Given the description of an element on the screen output the (x, y) to click on. 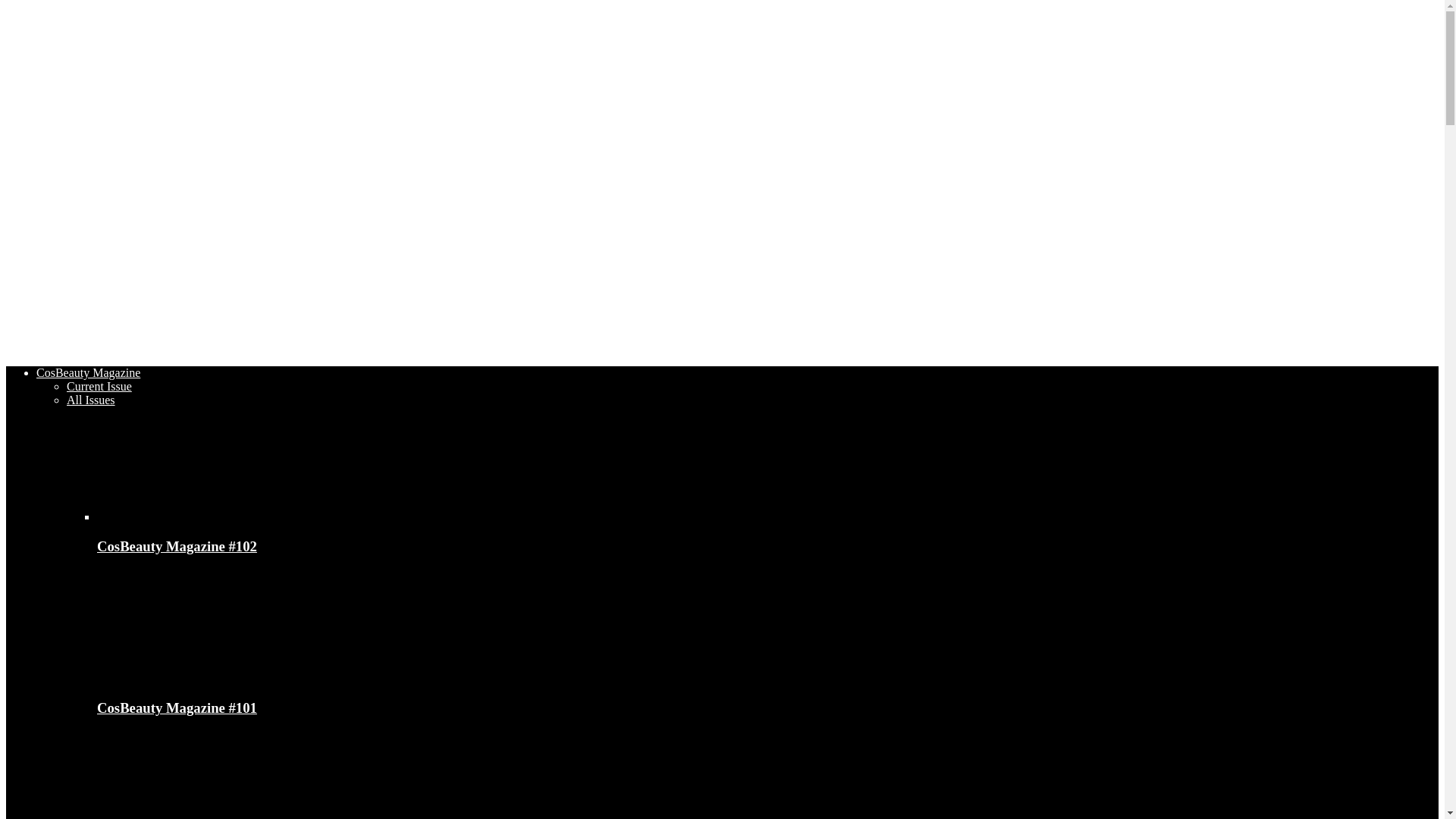
CosBeauty Magazine #101 Element type: hover (179, 625)
CosBeauty Magazine #102 Element type: text (177, 546)
All Issues Element type: text (90, 399)
CosBeauty Magazine #102 Element type: hover (179, 516)
CosBeauty Magazine Element type: text (88, 372)
Current Issue Element type: text (98, 385)
CosBeauty Magazine #102 Element type: hover (179, 463)
CosBeauty Magazine #101 Element type: text (177, 707)
CosBeauty Magazine #101 Element type: hover (179, 677)
